Given the description of an element on the screen output the (x, y) to click on. 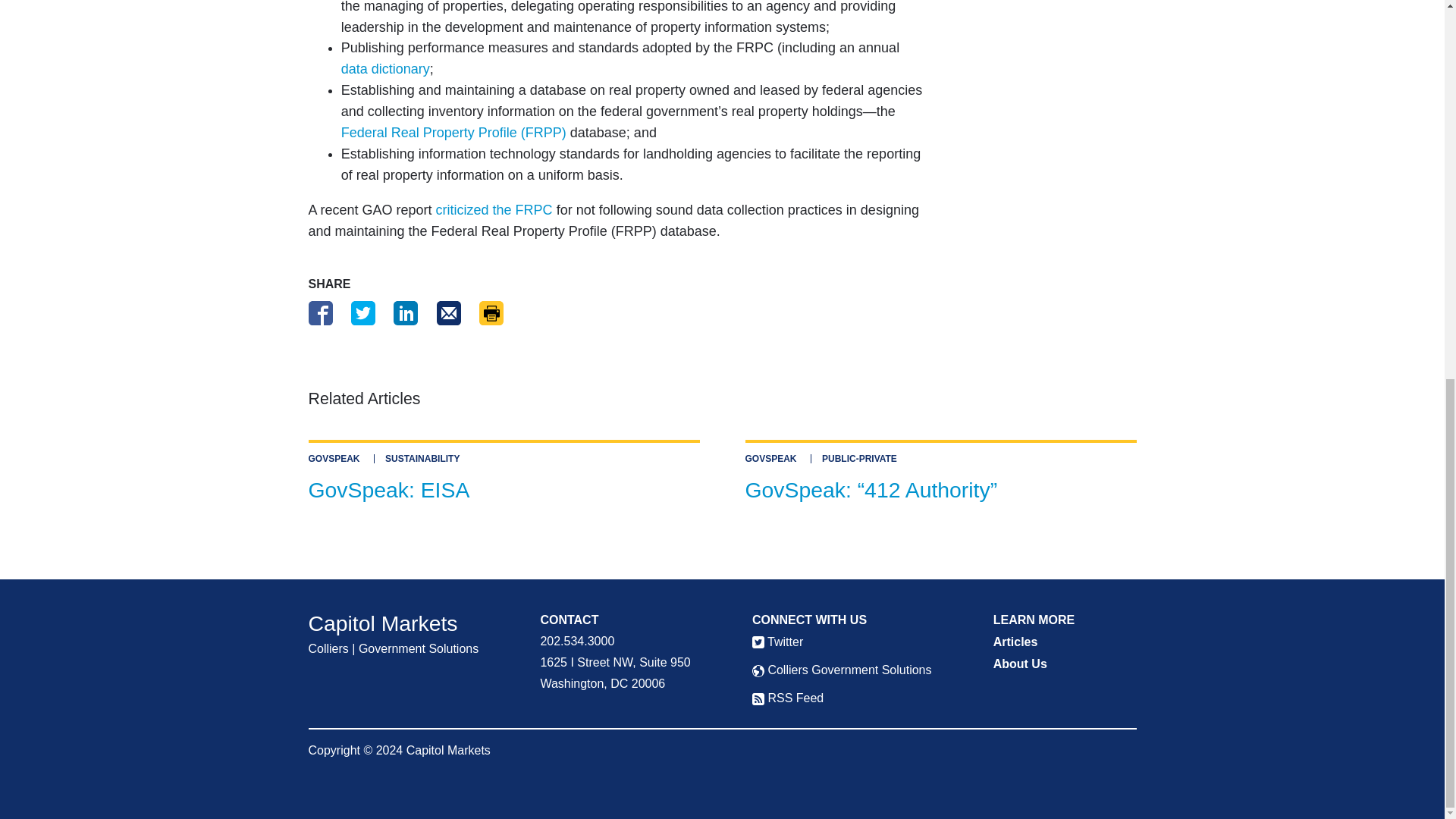
GovSpeak: FRPP (453, 132)
GAO Report: Management of Federal Property (494, 209)
Data Dictionary (384, 68)
